Given the description of an element on the screen output the (x, y) to click on. 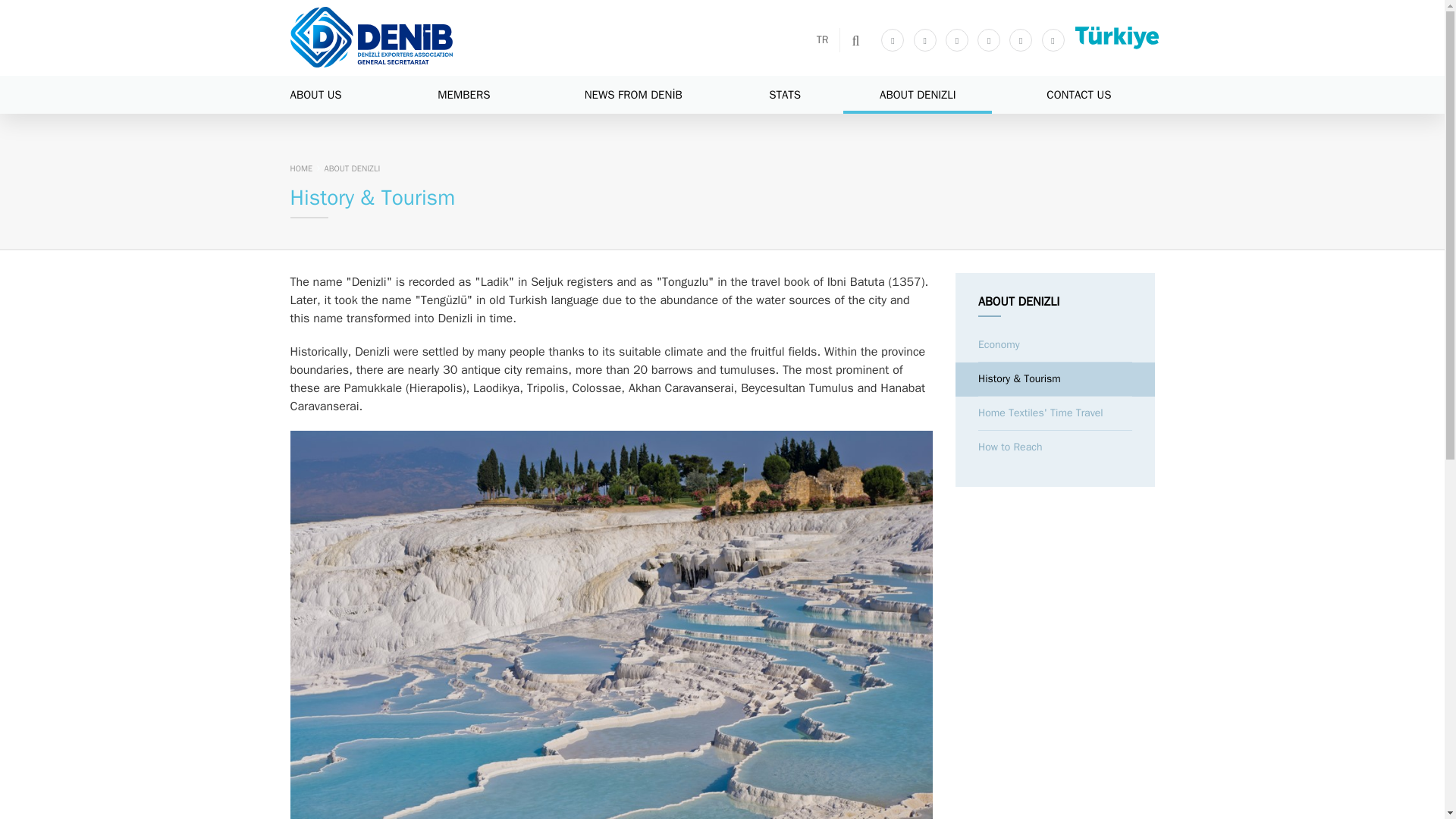
ABOUT US (343, 94)
MEMBERS (463, 94)
ABOUT DENIZLI (917, 94)
Follow us on Facebook (892, 39)
TR (823, 39)
CONTACT US (1078, 94)
Follow us on Threads (1053, 39)
Follow us on Linkedin (1020, 39)
Follow us on X (925, 39)
Follow us on YouTube (988, 39)
Follow us on Instagram (956, 39)
STATS (784, 94)
